Given the description of an element on the screen output the (x, y) to click on. 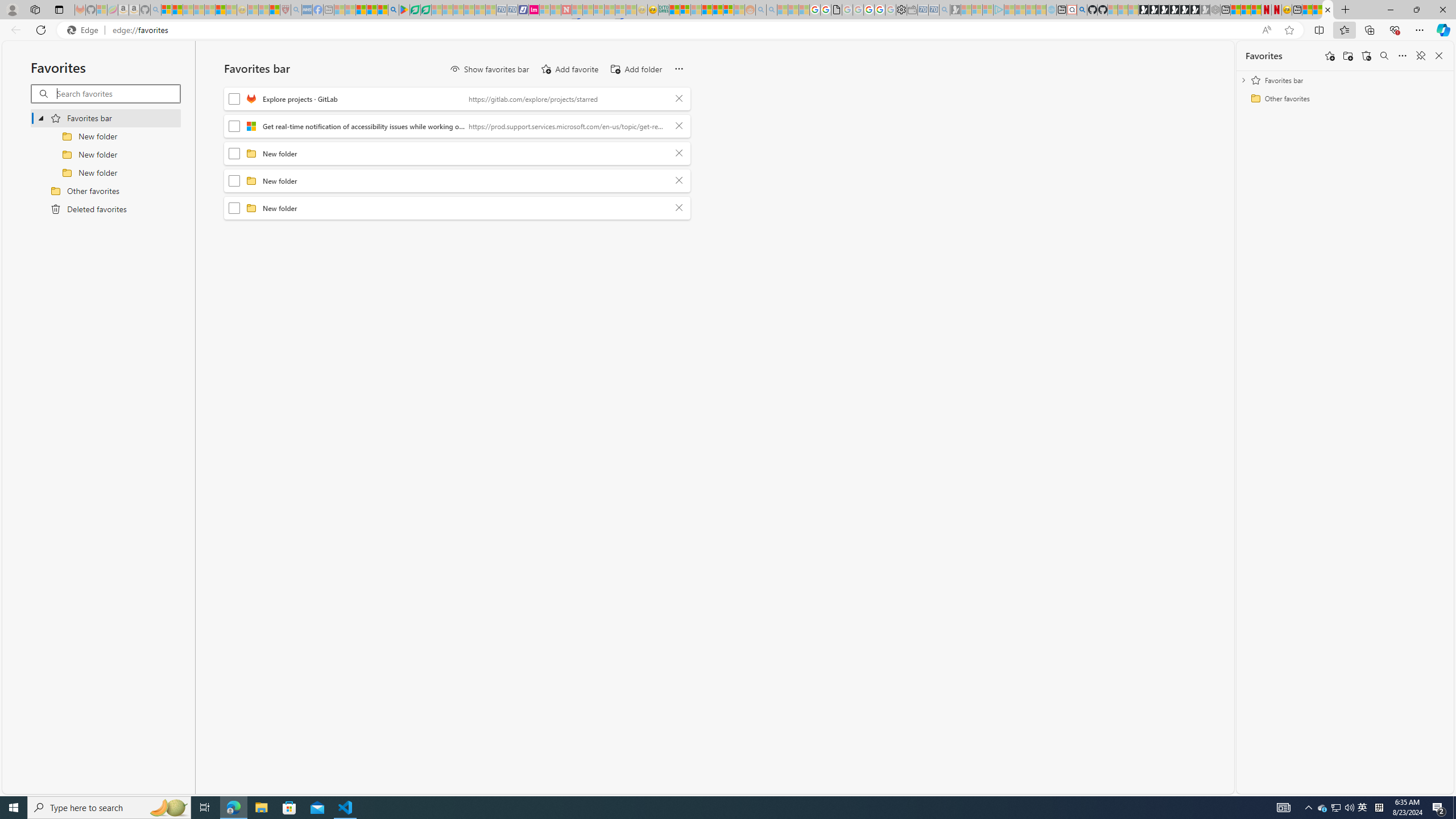
Back (13, 29)
Edge (84, 29)
Terms of Use Agreement (414, 9)
Read aloud this page (Ctrl+Shift+U) (1266, 29)
Browser essentials (1394, 29)
Microsoft Word - consumer-privacy address update 2.2021 (426, 9)
